Given the description of an element on the screen output the (x, y) to click on. 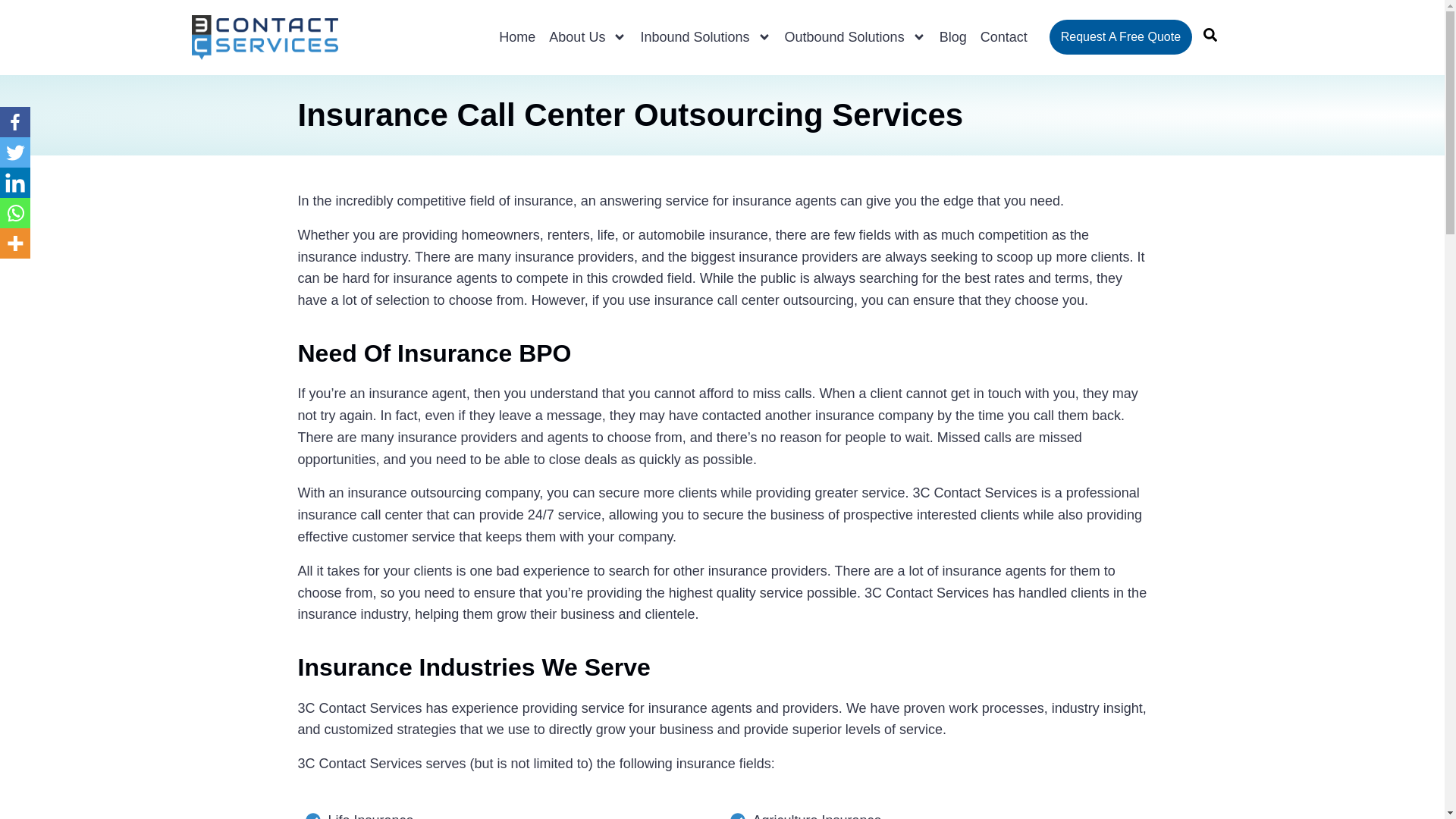
Request A Free Quote (1120, 36)
Home (516, 36)
Whatsapp (15, 213)
Outbound Solutions (855, 36)
More (15, 243)
Blog (953, 36)
Inbound Solutions (705, 36)
Linkedin (15, 182)
Facebook (15, 122)
About Us (587, 36)
Contact (1003, 36)
Twitter (15, 152)
